Given the description of an element on the screen output the (x, y) to click on. 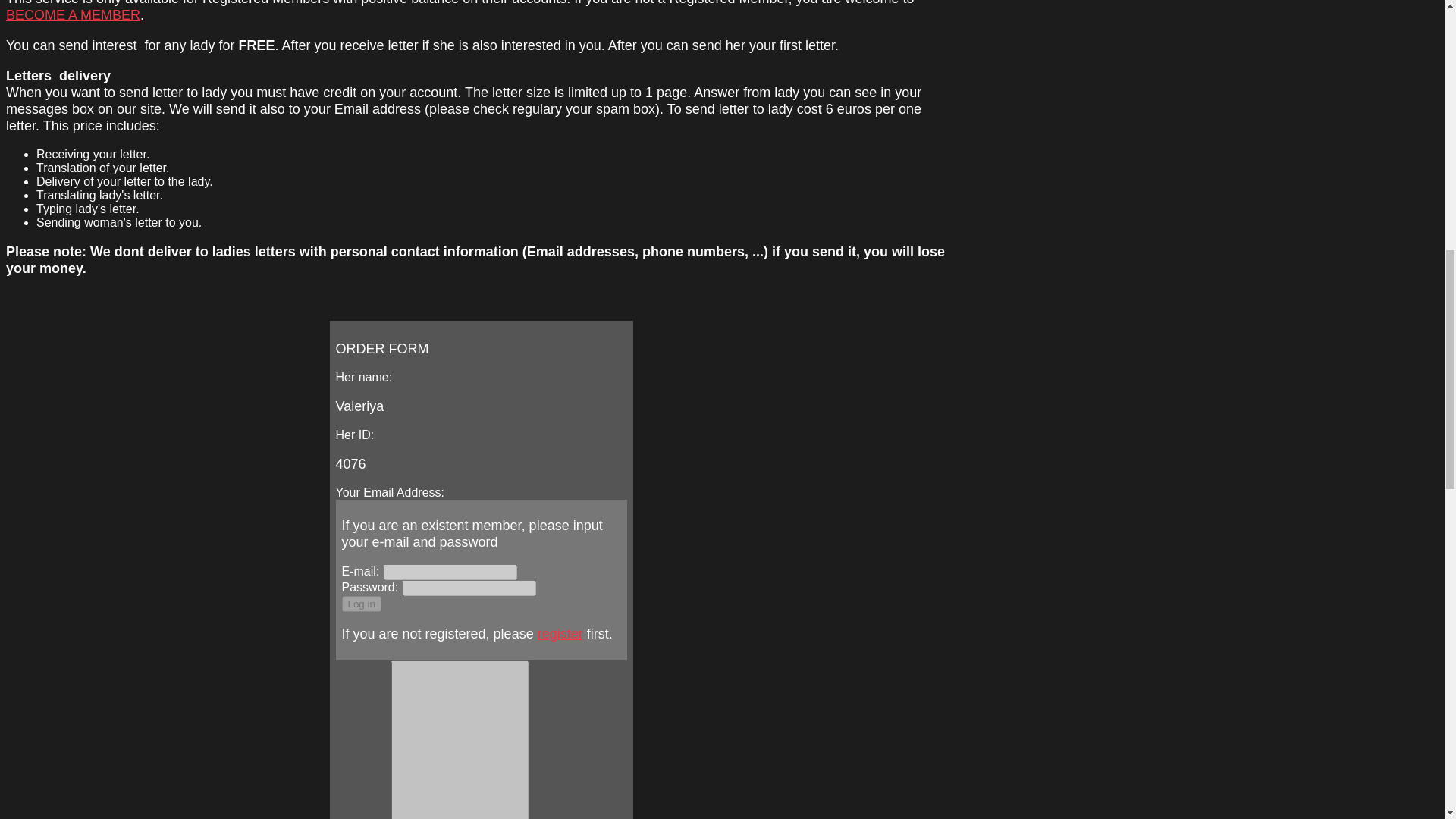
Log in (360, 603)
